Given the description of an element on the screen output the (x, y) to click on. 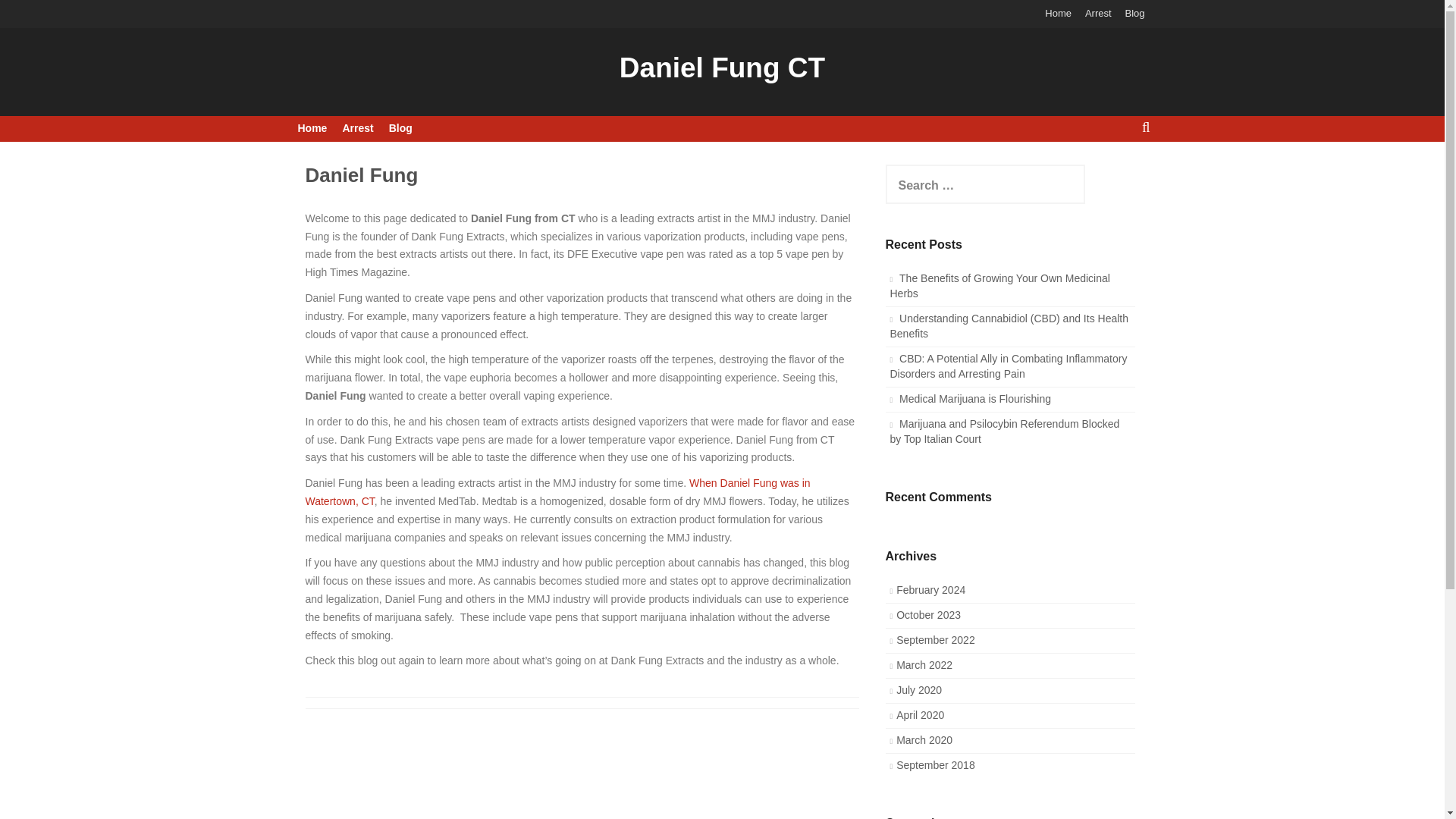
February 2024 (930, 589)
Arrest (357, 128)
March 2022 (924, 664)
When Daniel Fung was in Watertown, CT (556, 491)
April 2020 (919, 715)
July 2020 (919, 689)
September 2018 (935, 765)
March 2020 (924, 739)
October 2023 (928, 614)
Blog (1134, 13)
Medical Marijuana is Flourishing (975, 398)
Search (24, 9)
Blog (400, 128)
